Given the description of an element on the screen output the (x, y) to click on. 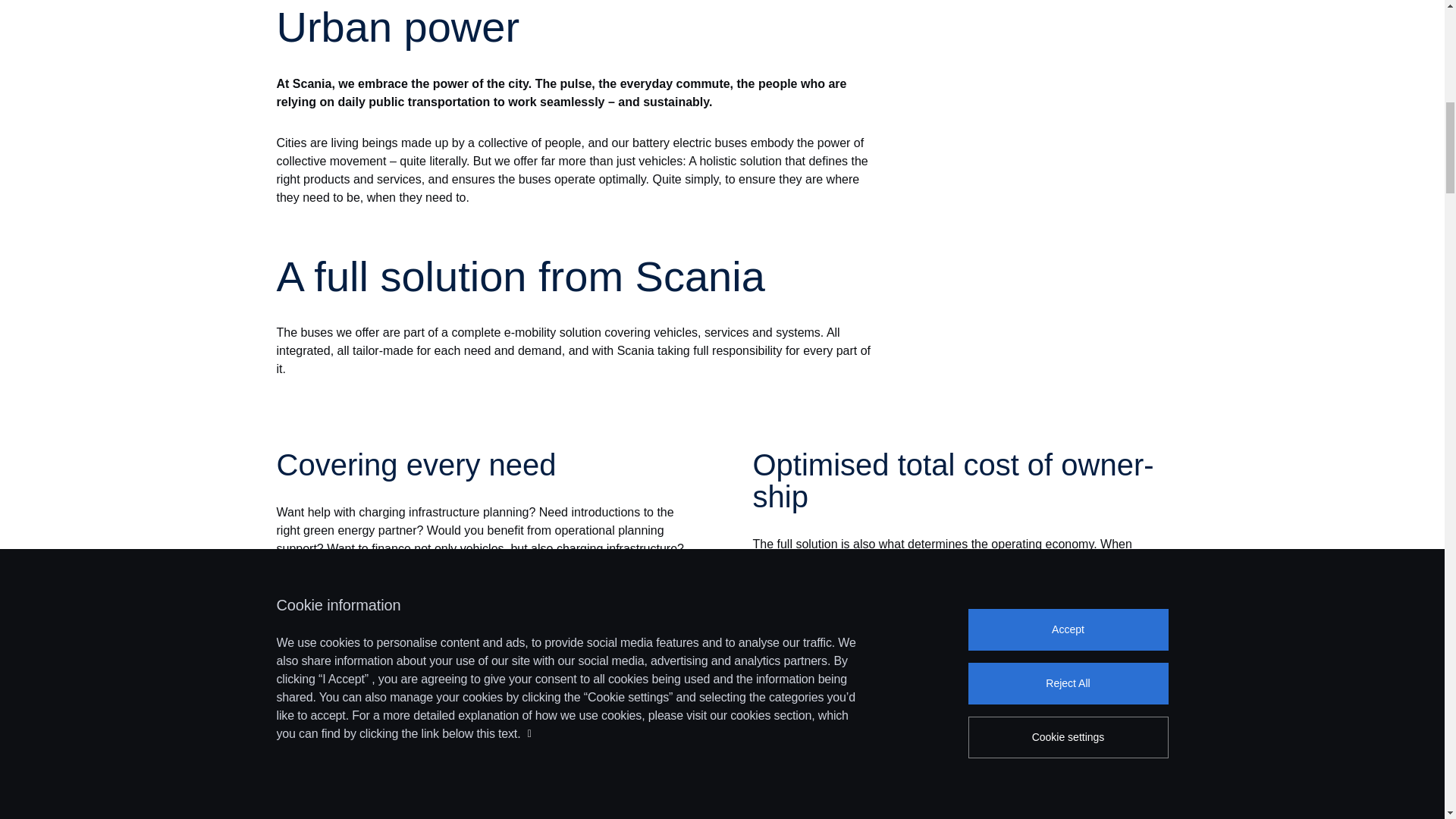
Vehicle, system, services - a three part solution (573, 749)
Urban power (573, 27)
Covering every need (483, 464)
Optimised total cost of ownership (959, 480)
A full solution from Scania (573, 276)
